Given the description of an element on the screen output the (x, y) to click on. 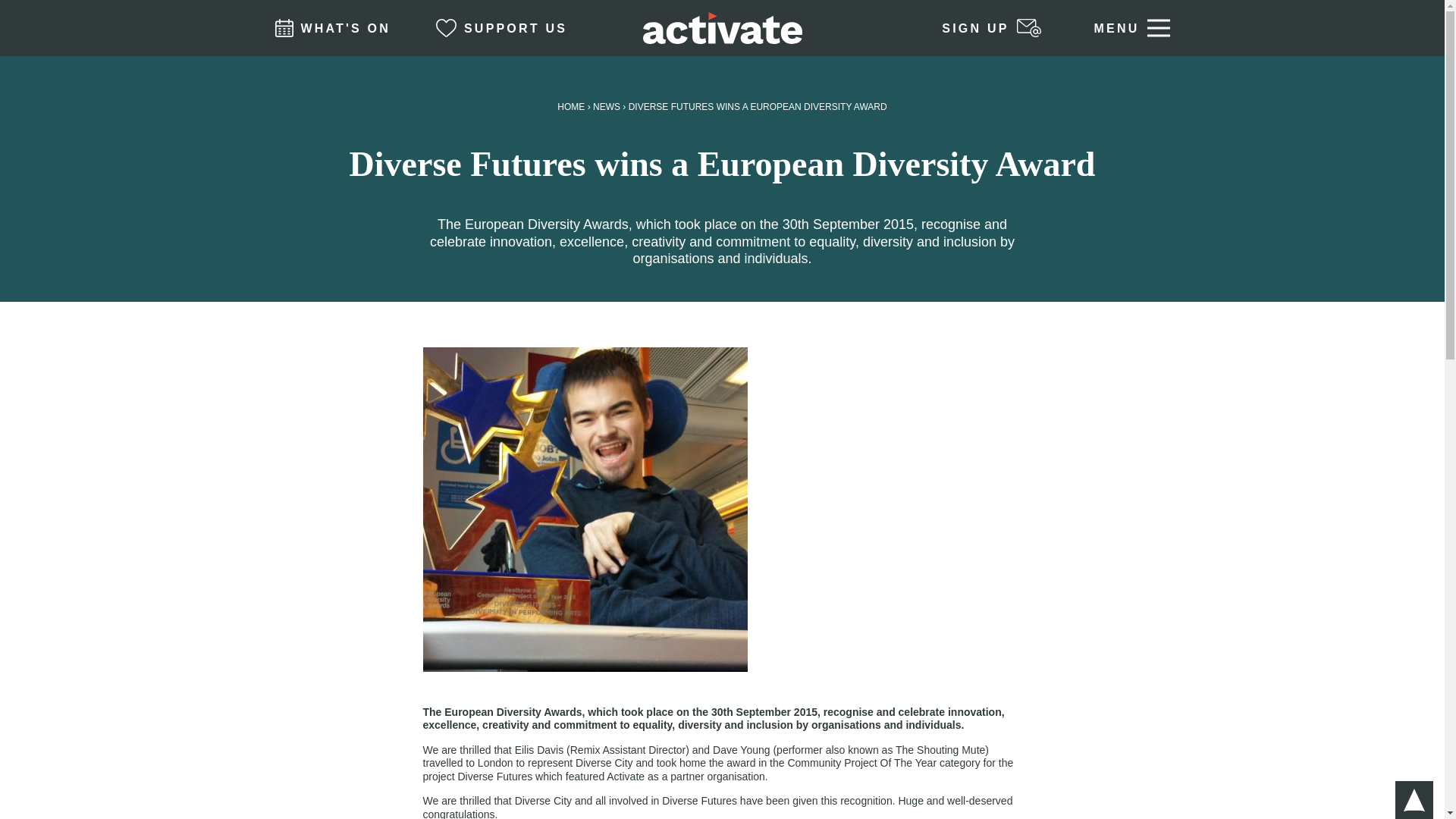
SUPPORT US (497, 27)
WHAT'S ON (328, 27)
Toggle Menu Visability (1131, 27)
MENU (1131, 27)
SIGN UP (995, 27)
Navigation back to the top of the page (1413, 800)
